Given the description of an element on the screen output the (x, y) to click on. 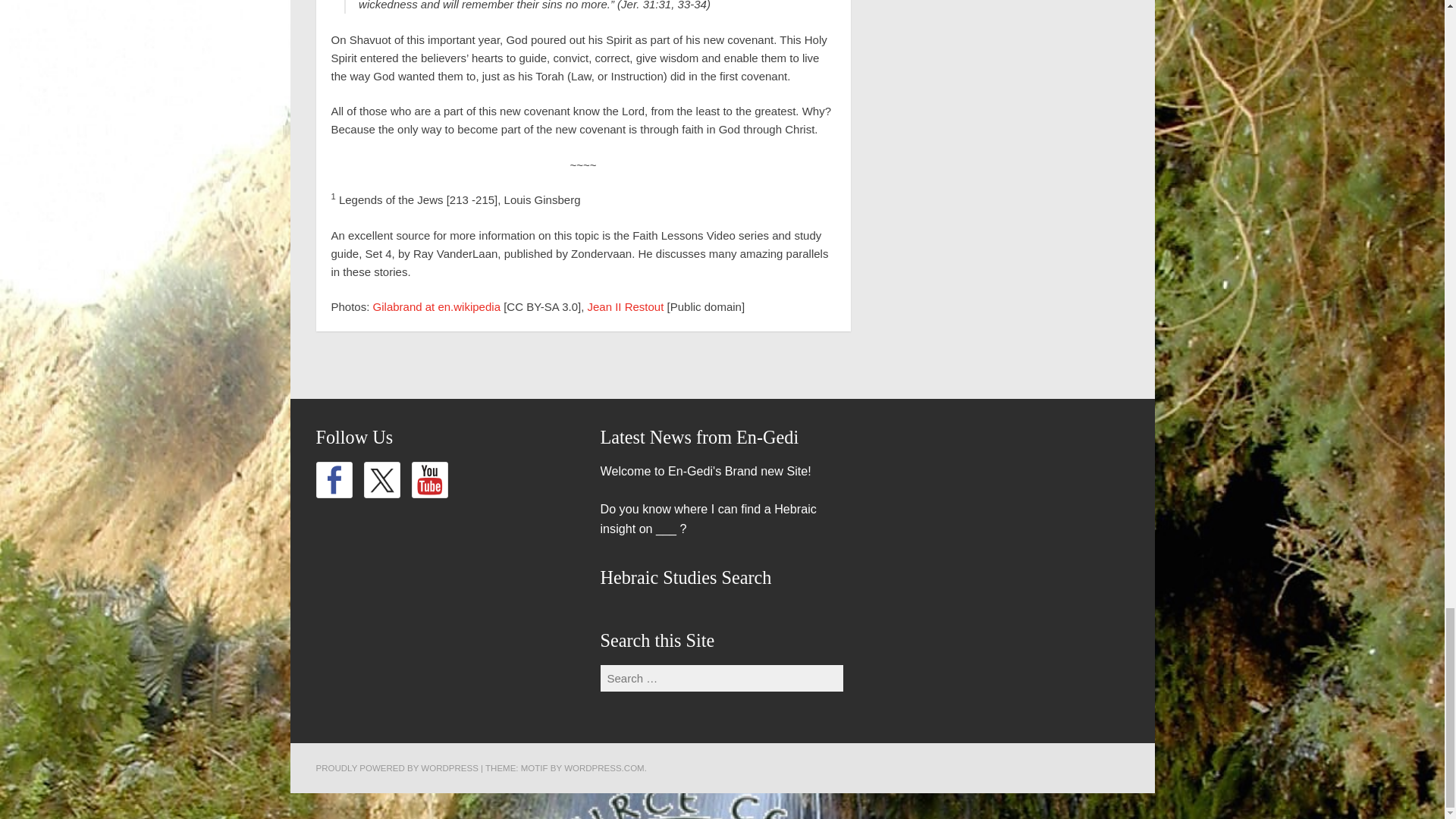
Gilabrand at en.wikipedia (436, 306)
A Semantic Personal Publishing Platform (396, 768)
Follow us on Twitter (382, 479)
Jean II Restout (624, 306)
Find us on YouTube (428, 479)
Follow us on Facebook (333, 479)
